Given the description of an element on the screen output the (x, y) to click on. 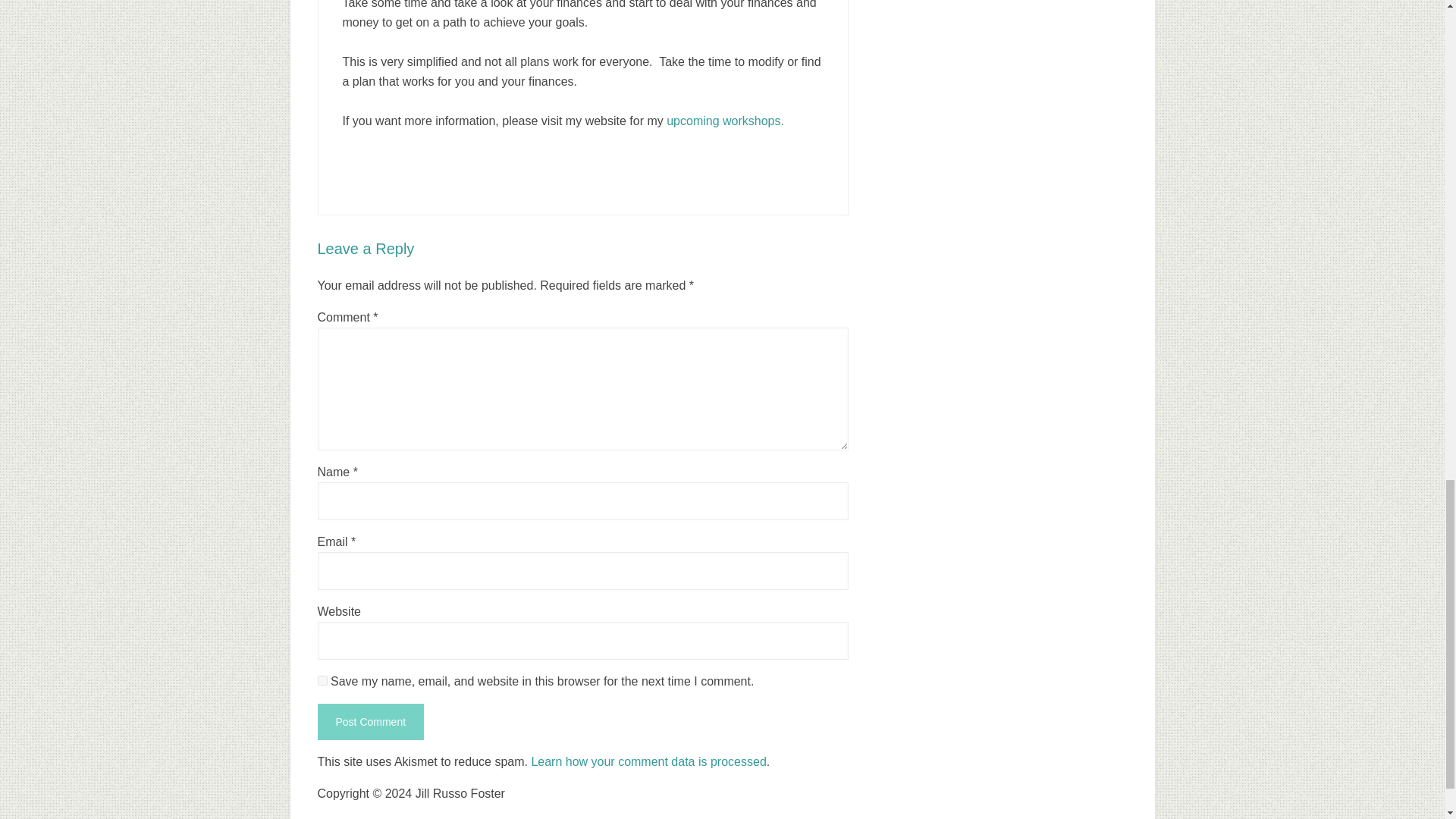
yes (321, 680)
Post Comment (370, 721)
